Given the description of an element on the screen output the (x, y) to click on. 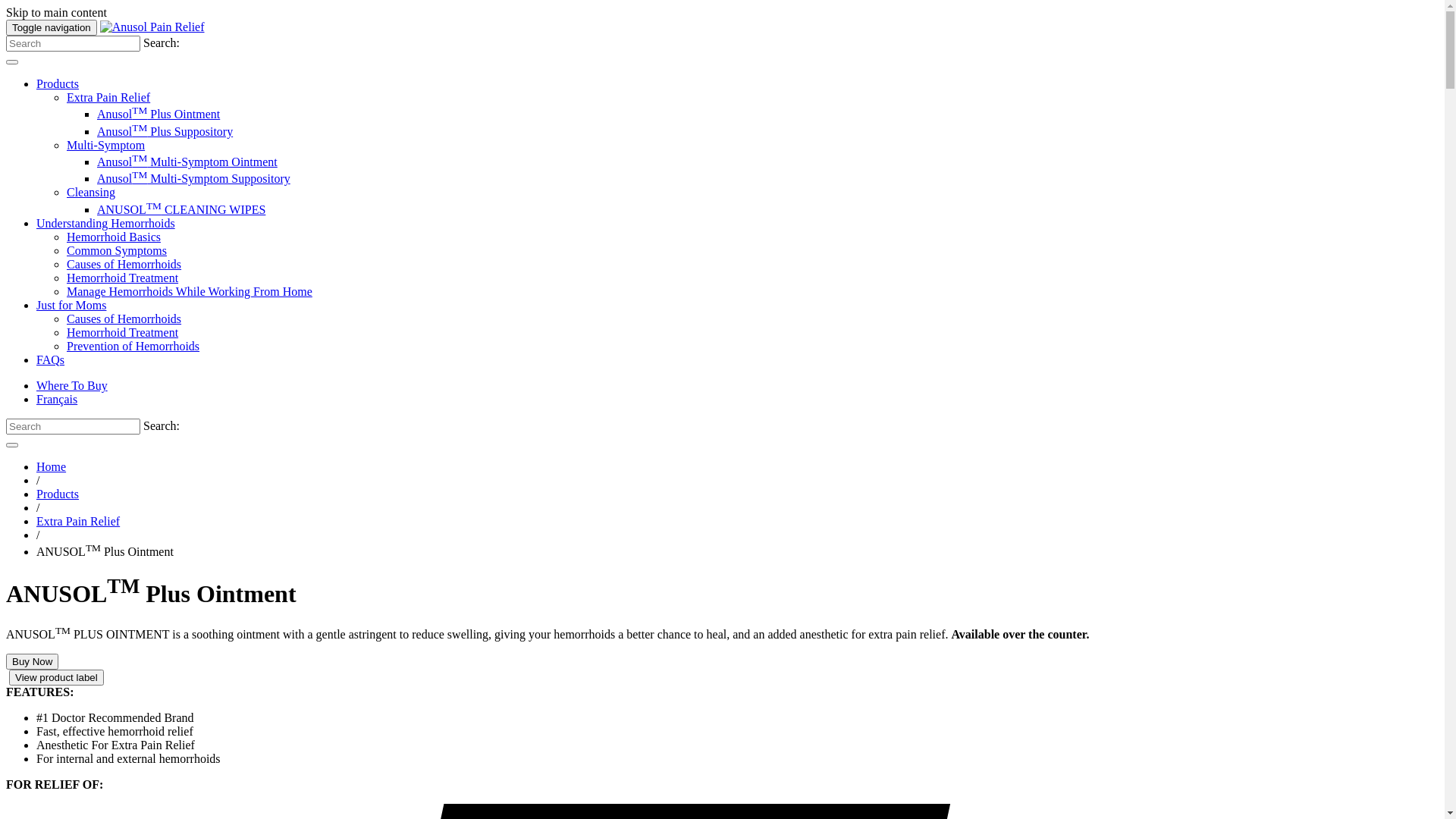
Extra Pain Relief Element type: text (77, 520)
Understanding Hemorrhoids Element type: text (105, 222)
Home Element type: text (50, 466)
Causes of Hemorrhoids Element type: text (123, 263)
Just for Moms Element type: text (71, 304)
AnusolTM Multi-Symptom Ointment Element type: text (187, 161)
AnusolTM Plus Ointment Element type: text (158, 113)
Manage Hemorrhoids While Working From Home Element type: text (189, 291)
AnusolTM Plus Suppository Element type: text (164, 131)
ANUSOLTM CLEANING WIPES Element type: text (181, 209)
Extra Pain Relief Element type: text (108, 97)
FAQs Element type: text (50, 359)
Skip to main content Element type: text (56, 12)
Hemorrhoid Treatment Element type: text (122, 277)
Cleansing Element type: text (90, 191)
AnusolTM Multi-Symptom Suppository Element type: text (193, 178)
Products Element type: text (57, 83)
Multi-Symptom Element type: text (105, 144)
Prevention of Hemorrhoids Element type: text (132, 345)
Buy Now Element type: text (32, 661)
Causes of Hemorrhoids Element type: text (123, 318)
View product label Element type: text (56, 677)
Hemorrhoid Basics Element type: text (113, 236)
Hemorrhoid Treatment Element type: text (122, 332)
Where To Buy Element type: text (71, 385)
Toggle navigation Element type: text (51, 27)
Common Symptoms Element type: text (116, 250)
Products Element type: text (57, 493)
